Given the description of an element on the screen output the (x, y) to click on. 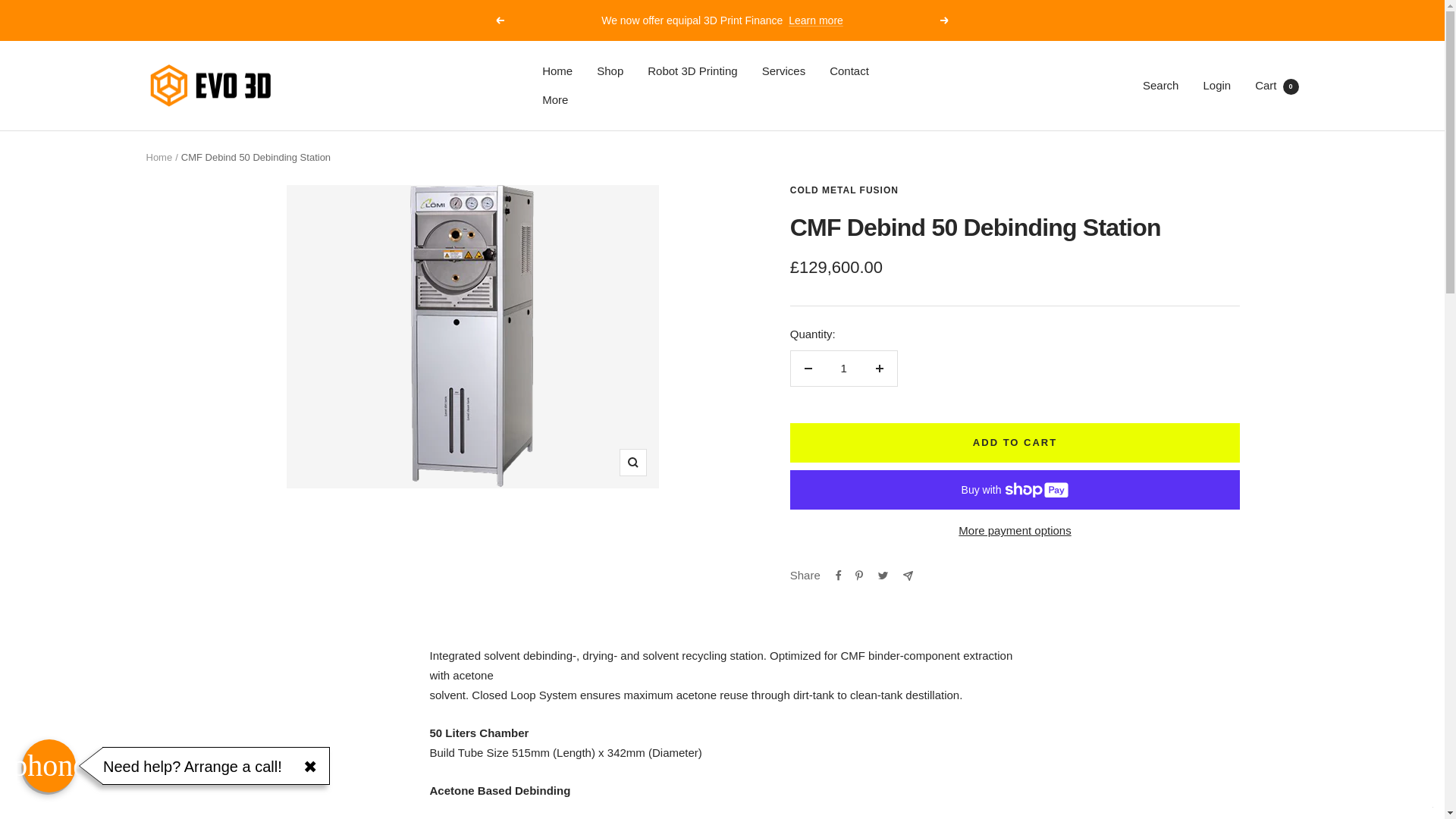
Services (783, 71)
Next (944, 20)
Previous (499, 20)
Search (1160, 84)
COLD METAL FUSION (844, 190)
Increase quantity (878, 368)
Shop (609, 71)
1 (843, 368)
ADD TO CART (1015, 442)
More payment options (1015, 530)
Login (1216, 84)
Home (556, 71)
Evo3D (210, 85)
Robot 3D Printing (691, 71)
Home (158, 156)
